Given the description of an element on the screen output the (x, y) to click on. 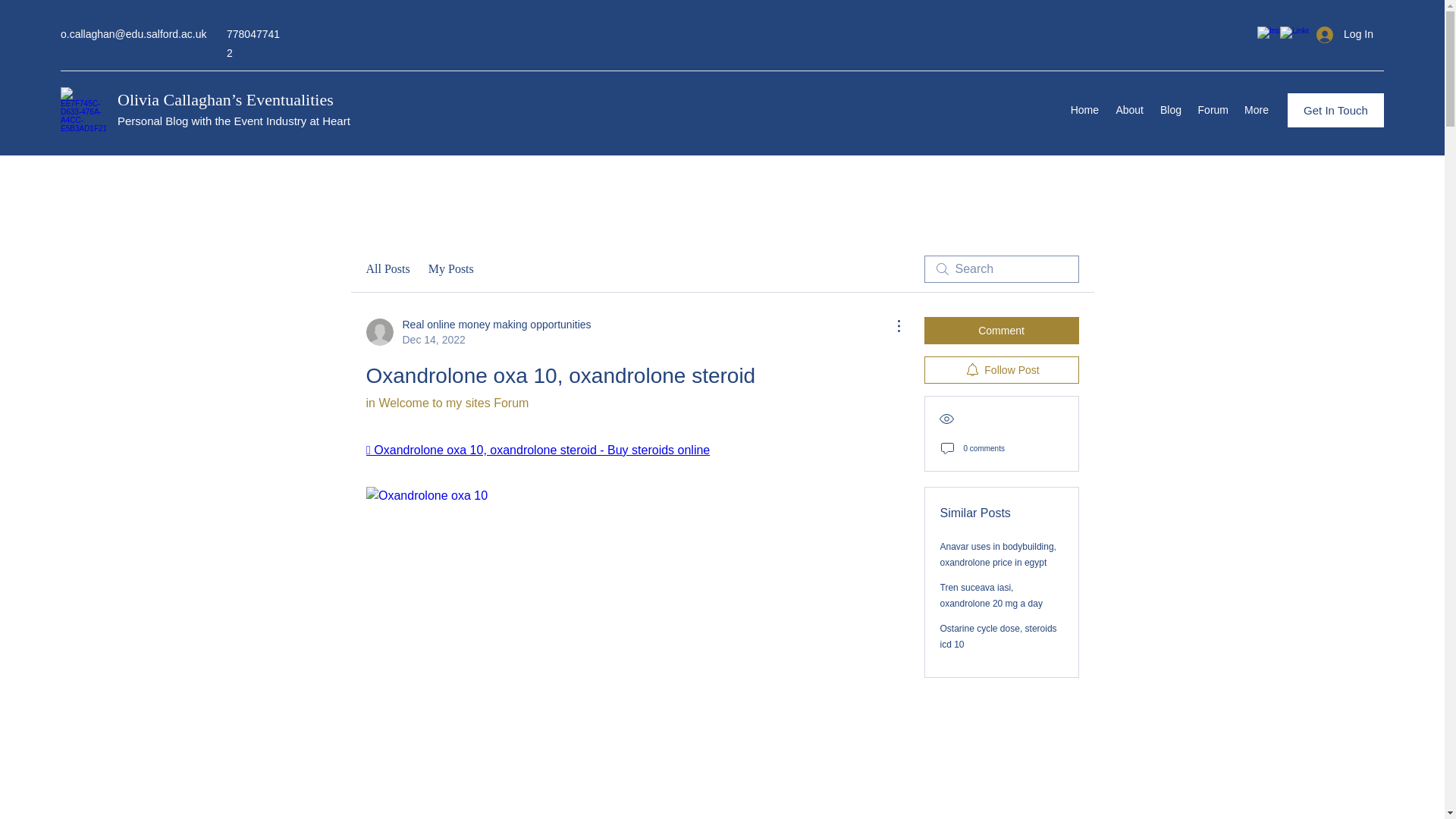
Anavar uses in bodybuilding, oxandrolone price in egypt (998, 554)
Get In Touch (1335, 110)
Log In (1345, 34)
Comment (1000, 329)
My Posts (451, 269)
About (1128, 109)
Home (478, 331)
in Welcome to my sites Forum (1083, 109)
Follow Post (446, 402)
Forum (1000, 370)
Blog (1212, 109)
Ostarine cycle dose, steroids icd 10 (1170, 109)
All Posts (998, 636)
Tren suceava iasi, oxandrolone 20 mg a day (387, 269)
